Given the description of an element on the screen output the (x, y) to click on. 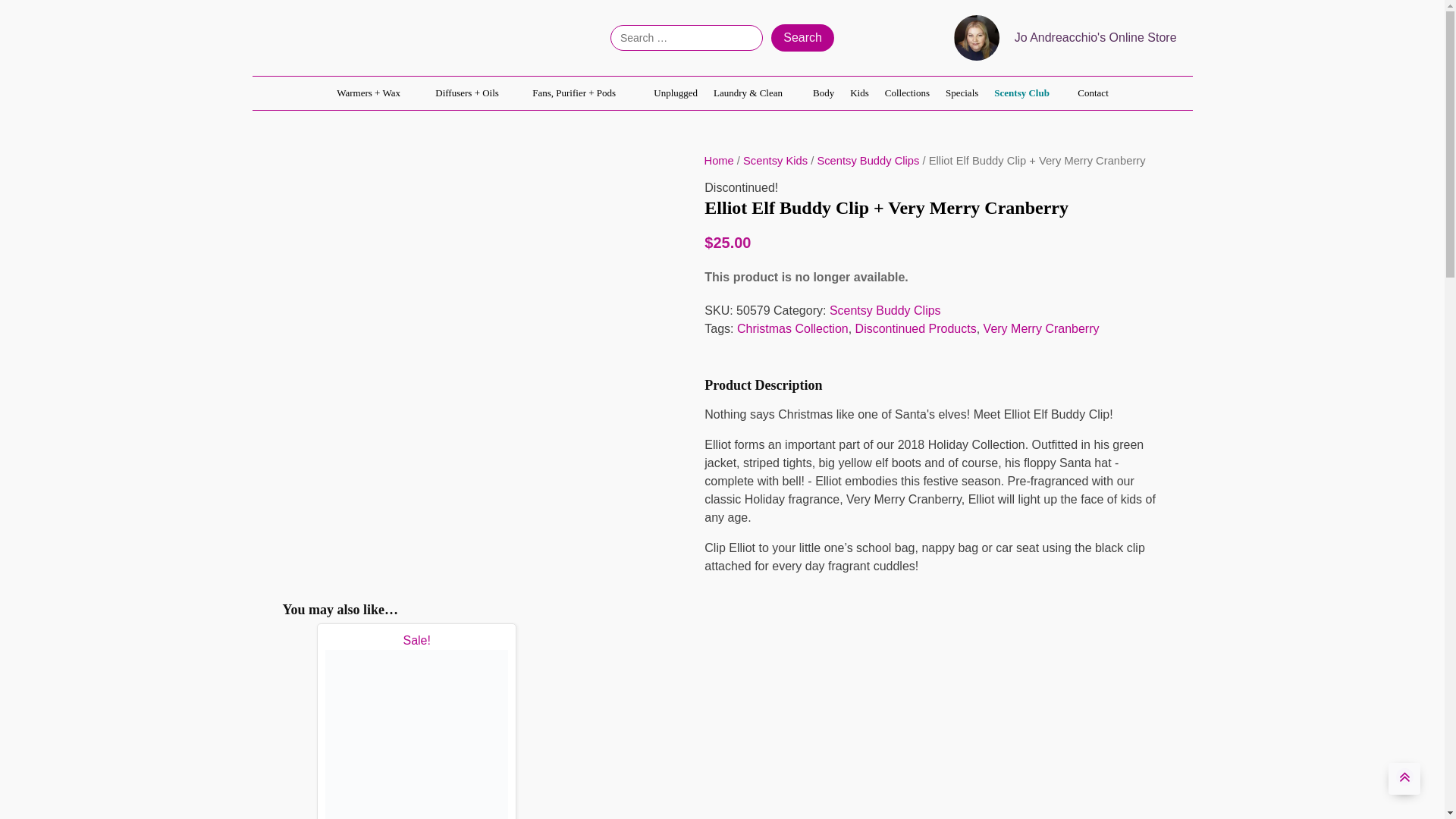
Search (802, 37)
Search (802, 37)
Unplugged (675, 93)
Search (802, 37)
